Given the description of an element on the screen output the (x, y) to click on. 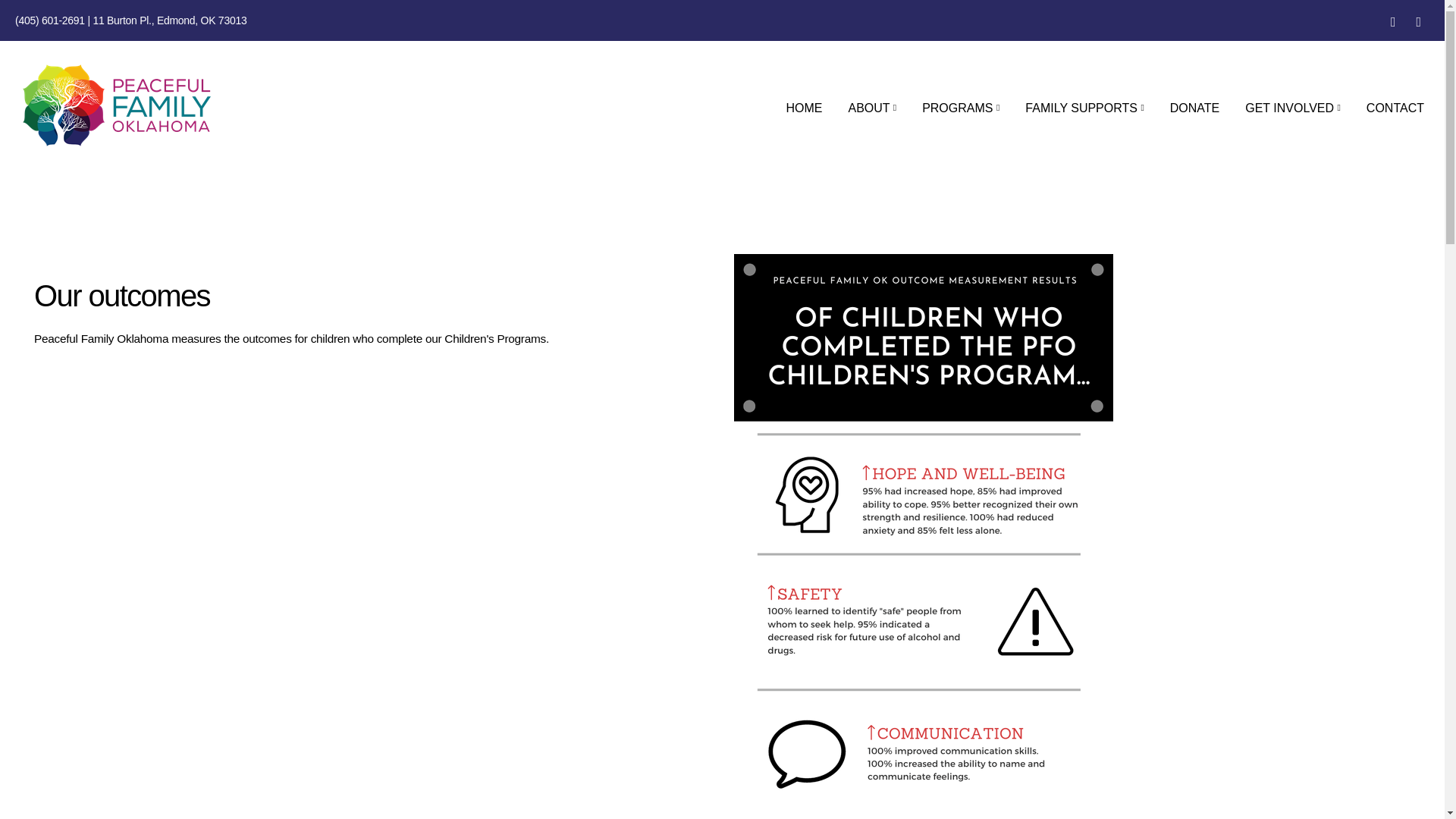
ABOUT  (871, 108)
CONTACT (1395, 108)
HOME (803, 108)
DONATE (1194, 108)
PROGRAMS  (960, 108)
FAMILY SUPPORTS  (1083, 108)
GET INVOLVED  (1292, 108)
